Given the description of an element on the screen output the (x, y) to click on. 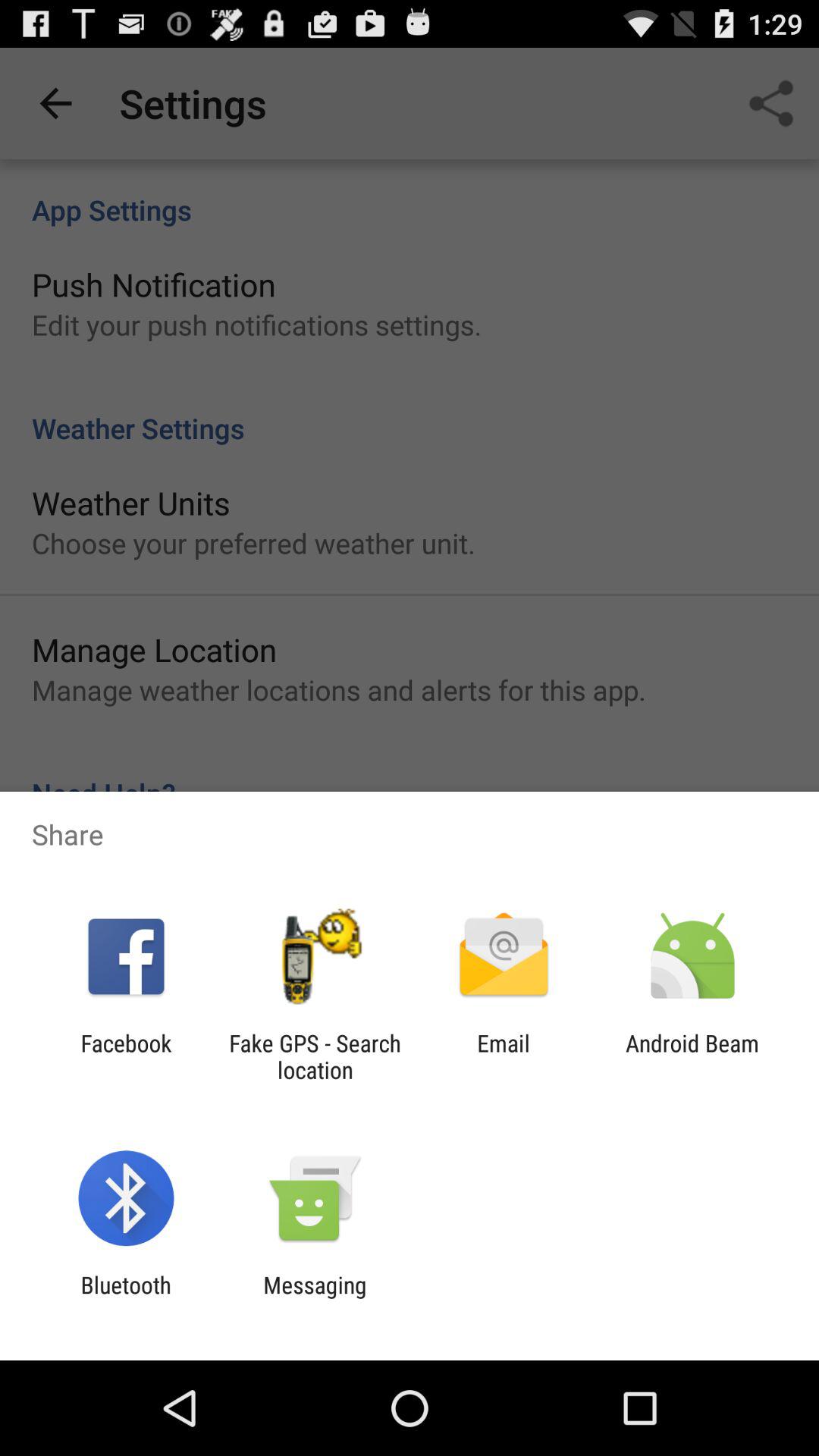
scroll until the android beam (692, 1056)
